Given the description of an element on the screen output the (x, y) to click on. 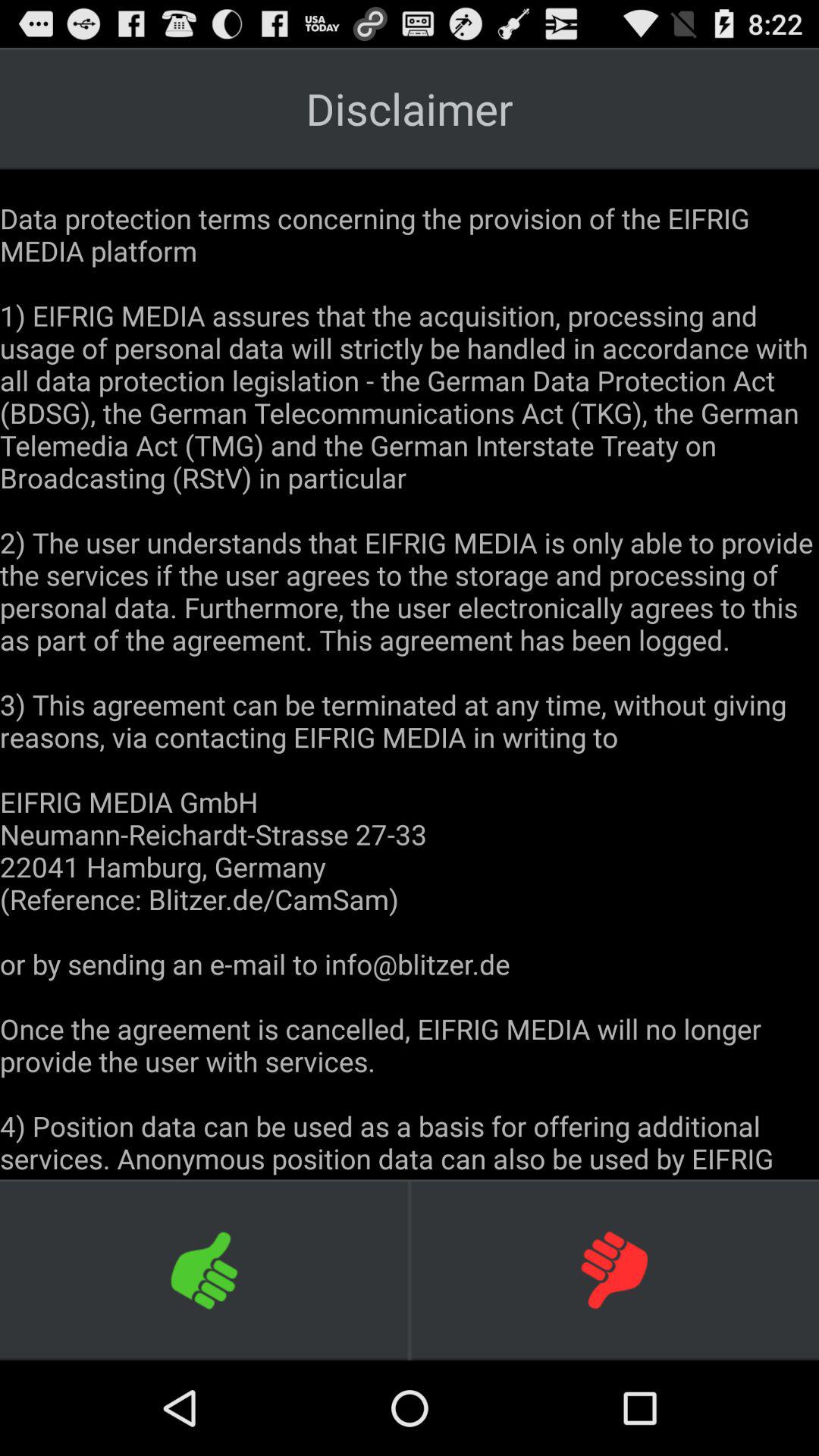
disagree with terms of use (614, 1269)
